Given the description of an element on the screen output the (x, y) to click on. 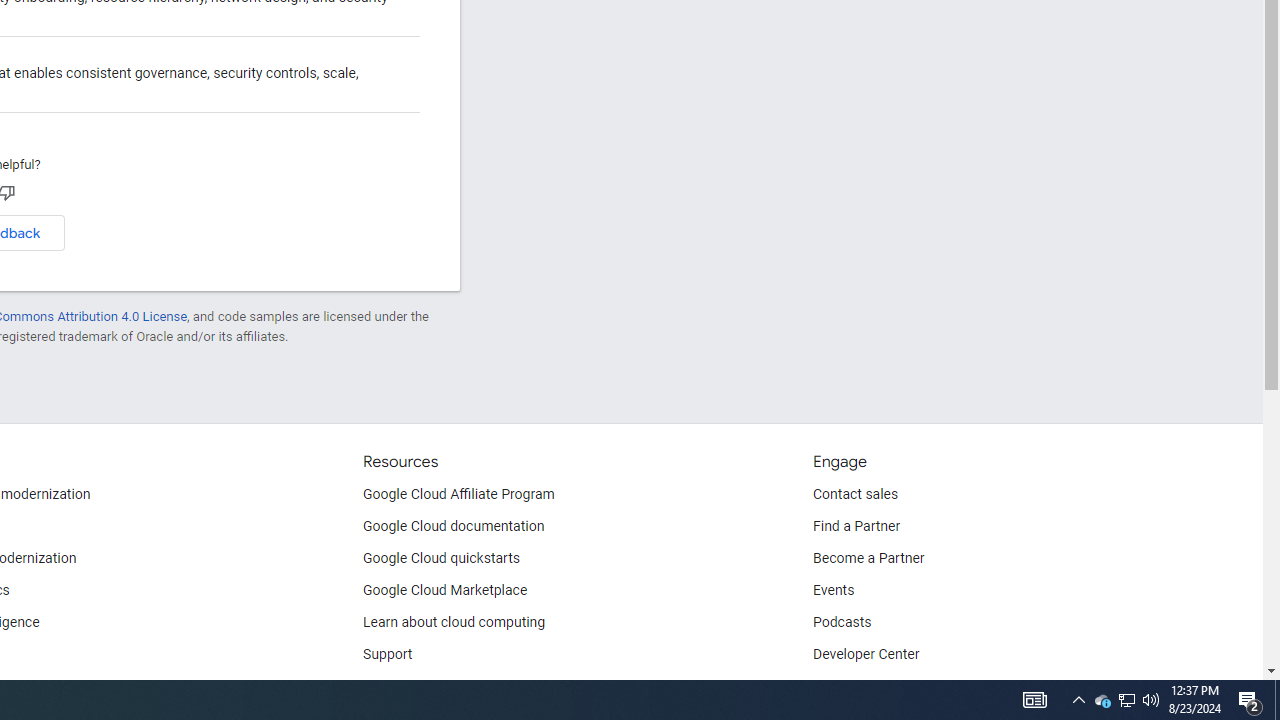
Press Corner (852, 686)
Podcasts (841, 622)
Code samples (407, 686)
Find a Partner (856, 526)
Support (388, 655)
Google Cloud Marketplace (445, 590)
Google Cloud quickstarts (441, 558)
Google Cloud Affiliate Program (459, 494)
Learn about cloud computing (454, 622)
Google Cloud documentation (454, 526)
Contact sales (855, 494)
Become a Partner (868, 558)
Developer Center (866, 655)
Events (833, 590)
